Given the description of an element on the screen output the (x, y) to click on. 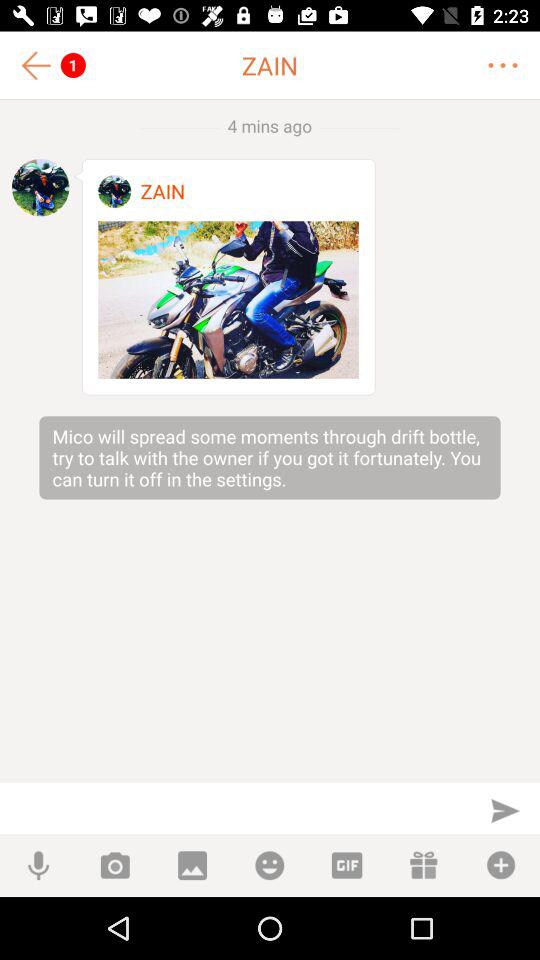
send message (505, 810)
